Given the description of an element on the screen output the (x, y) to click on. 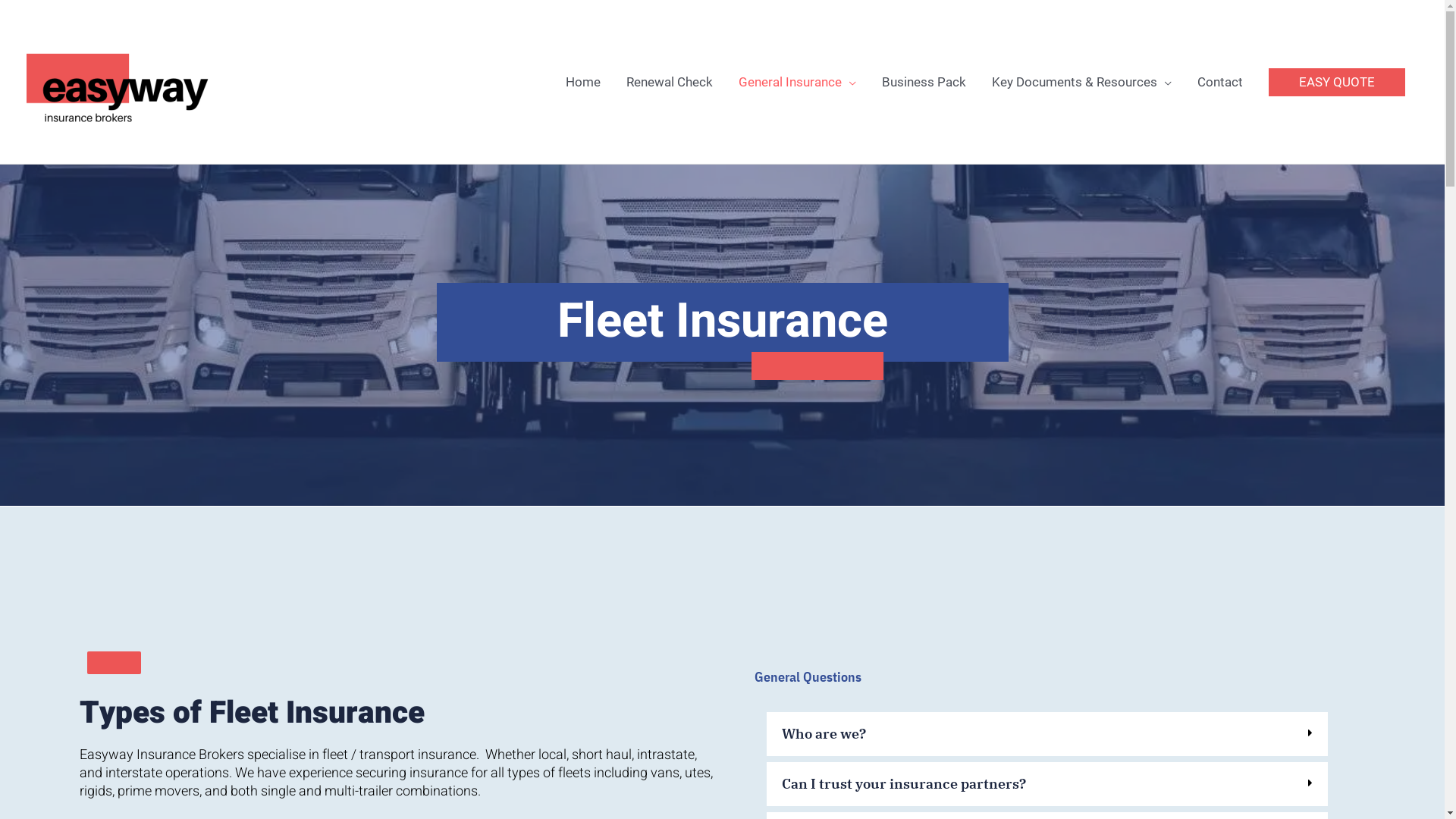
EASY QUOTE Element type: text (1336, 82)
Contact Element type: text (1219, 81)
Home Element type: text (582, 81)
Key Documents & Resources Element type: text (1081, 81)
Can I trust your insurance partners? Element type: text (903, 783)
General Insurance Element type: text (797, 81)
Who are we? Element type: text (823, 733)
Renewal Check Element type: text (669, 81)
Business Pack Element type: text (924, 81)
